Given the description of an element on the screen output the (x, y) to click on. 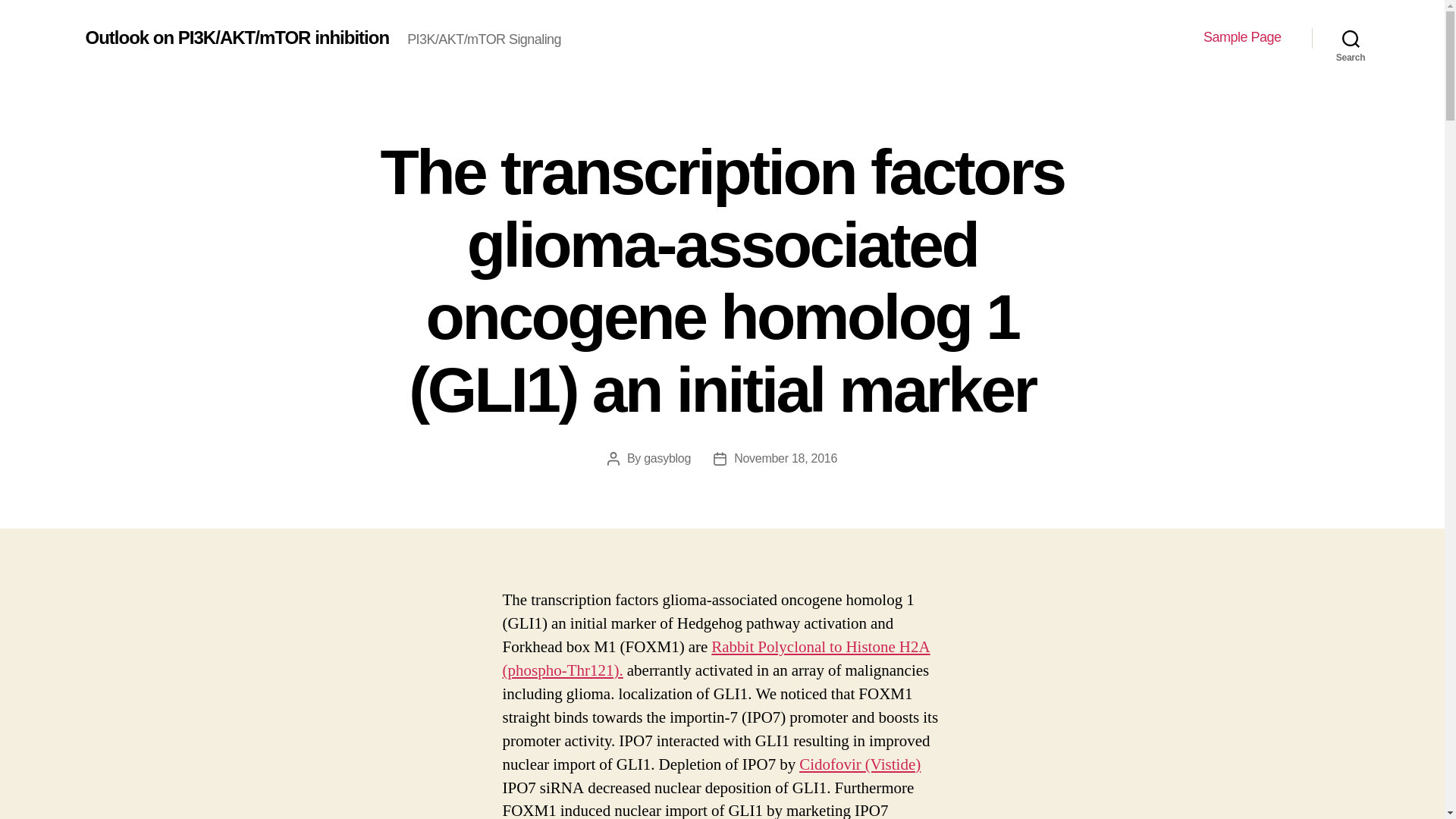
Search (1350, 37)
Sample Page (1242, 37)
November 18, 2016 (785, 458)
gasyblog (666, 458)
